Given the description of an element on the screen output the (x, y) to click on. 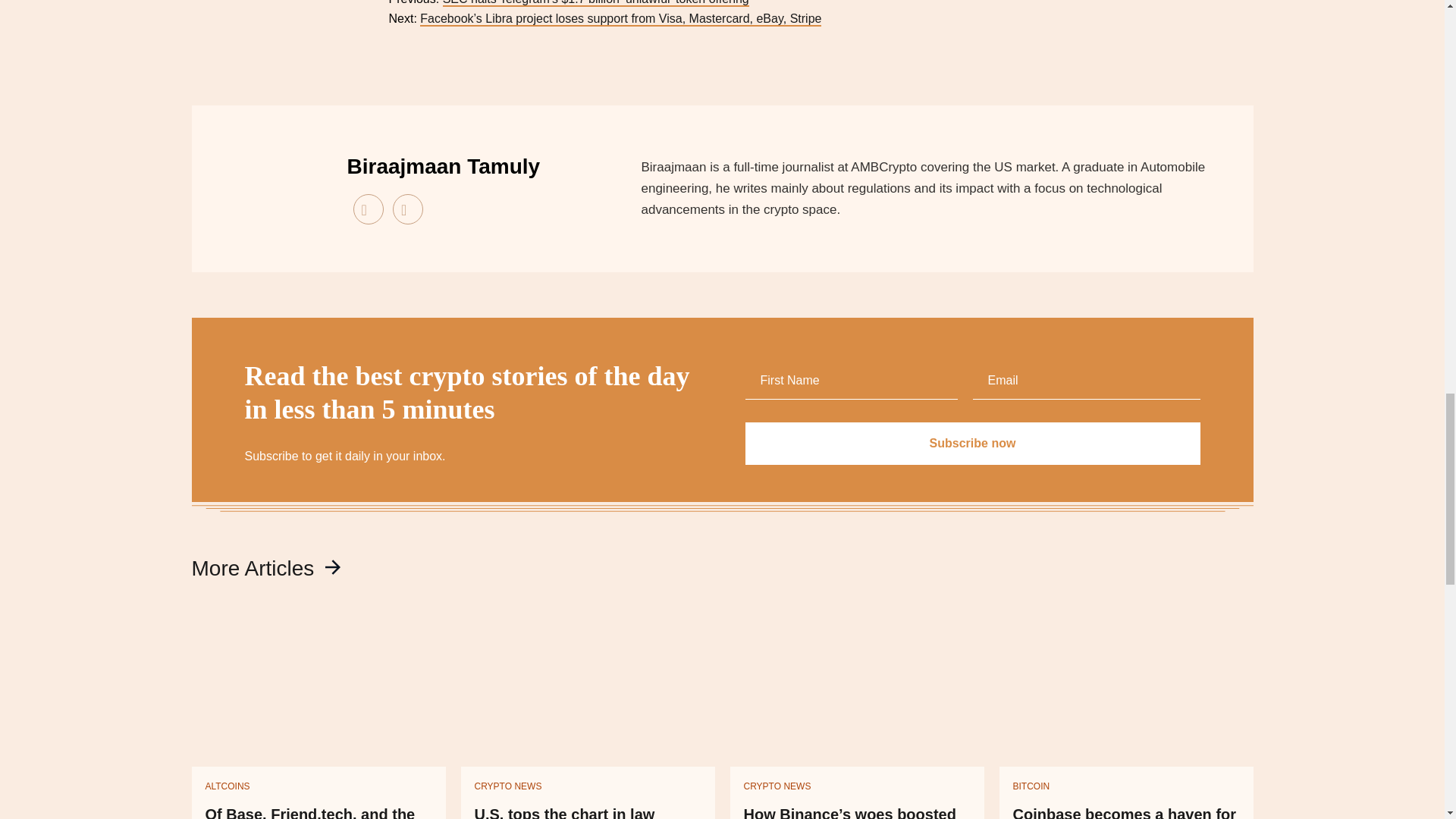
Subscribe now (971, 443)
Posts by Biraajmaan Tamuly (443, 166)
